Given the description of an element on the screen output the (x, y) to click on. 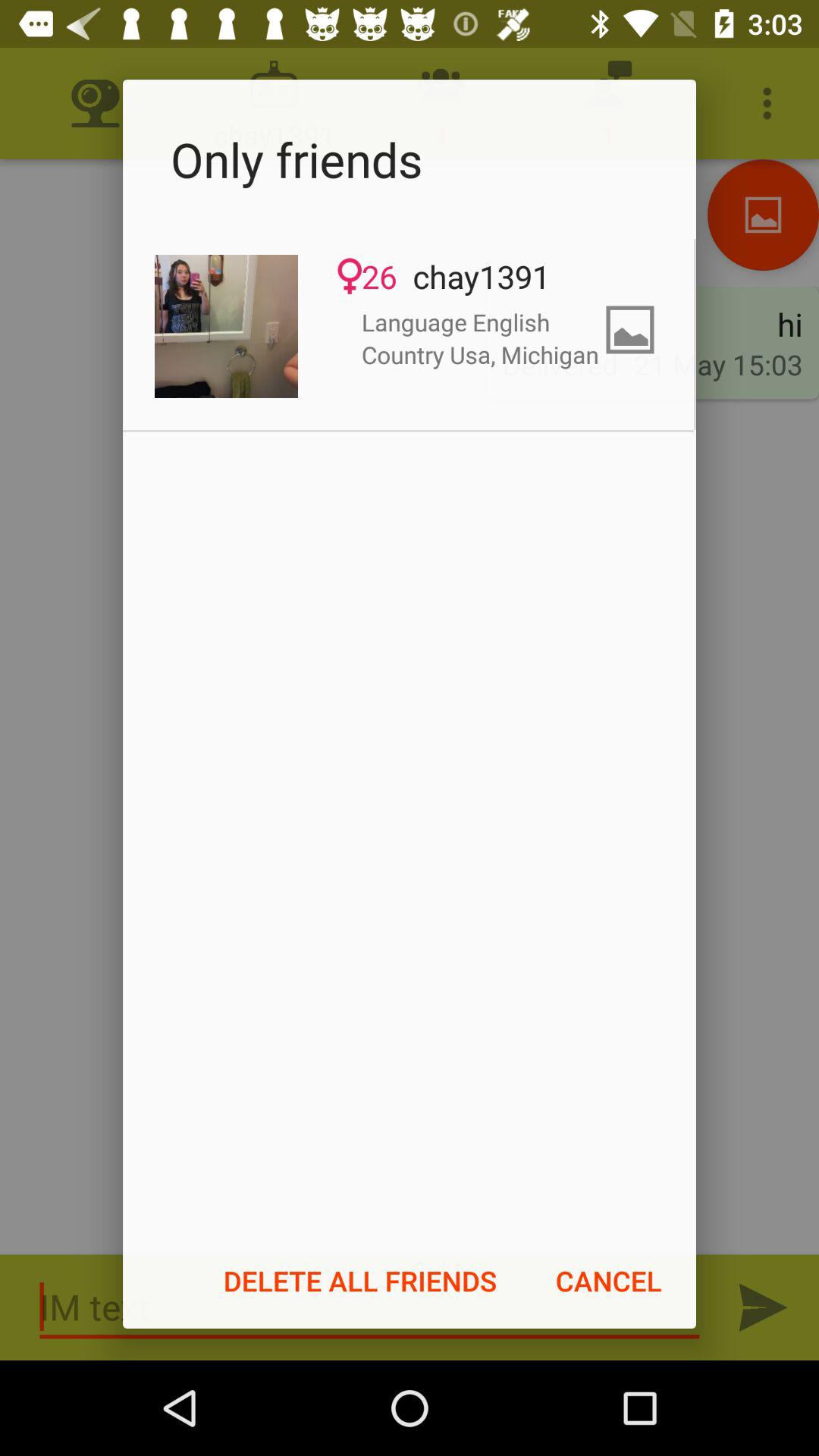
turn off the icon next to the delete all friends icon (608, 1280)
